Given the description of an element on the screen output the (x, y) to click on. 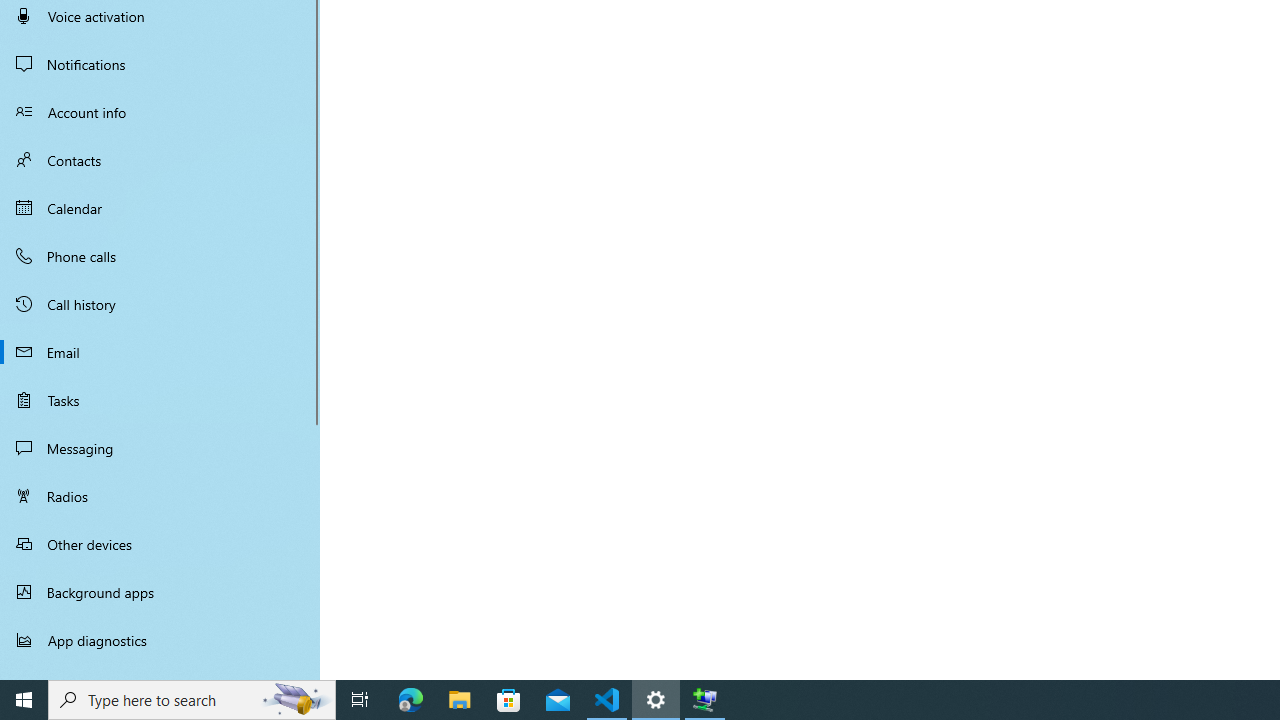
App diagnostics (160, 639)
Contacts (160, 160)
Radios (160, 495)
Task View (359, 699)
Search highlights icon opens search home window (295, 699)
Settings - 1 running window (656, 699)
Extensible Wizards Host Process - 1 running window (704, 699)
Notifications (160, 63)
Other devices (160, 543)
Phone calls (160, 255)
Calendar (160, 207)
Background apps (160, 592)
Automatic file downloads (160, 671)
Tasks (160, 399)
